Given the description of an element on the screen output the (x, y) to click on. 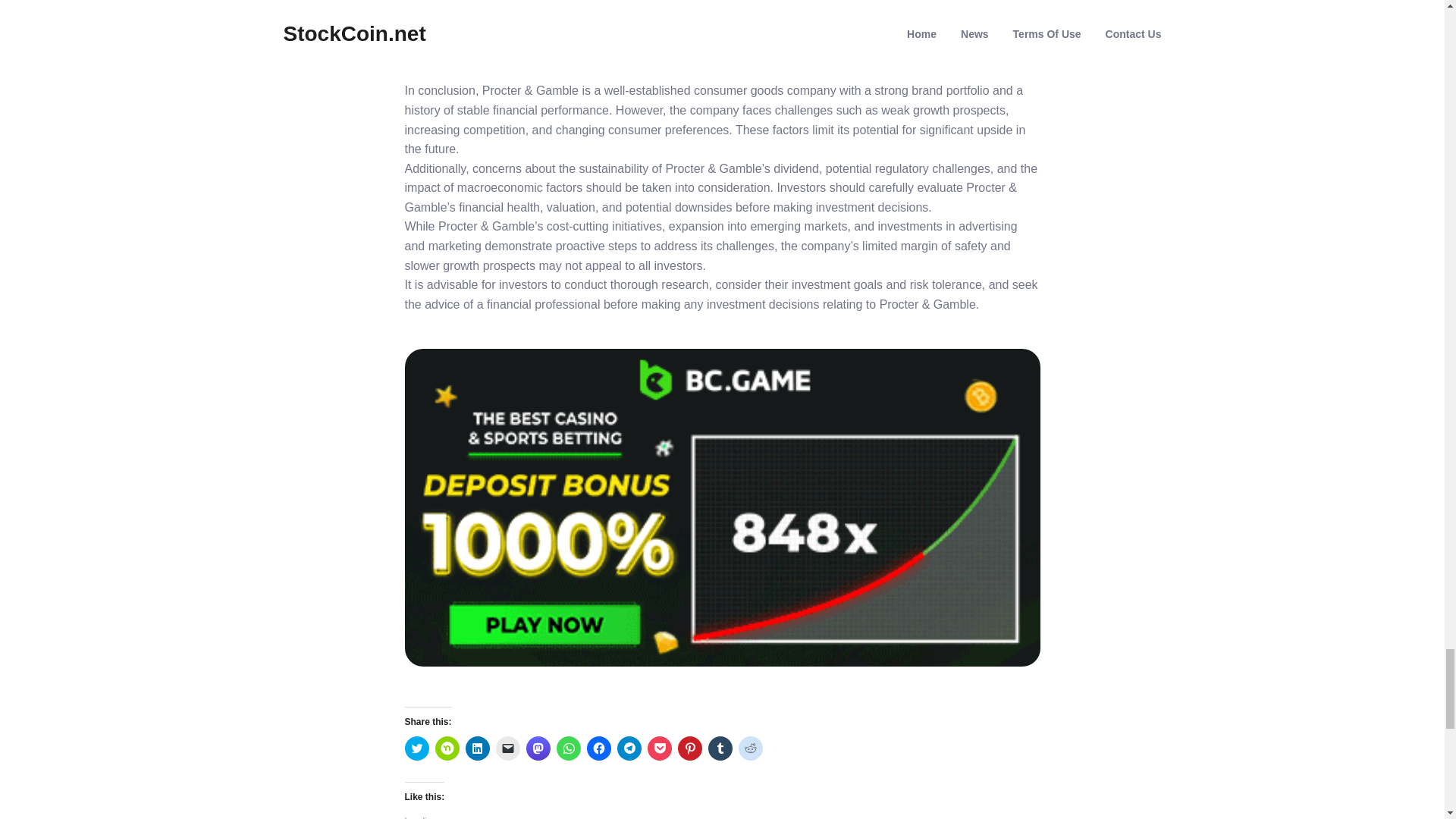
Click to email a link to a friend (507, 748)
Click to share on Mastodon (537, 748)
Click to share on LinkedIn (477, 748)
Click to share on WhatsApp (568, 748)
Click to share on Facebook (598, 748)
Click to share on Nextdoor (447, 748)
Click to share on Twitter (416, 748)
